Given the description of an element on the screen output the (x, y) to click on. 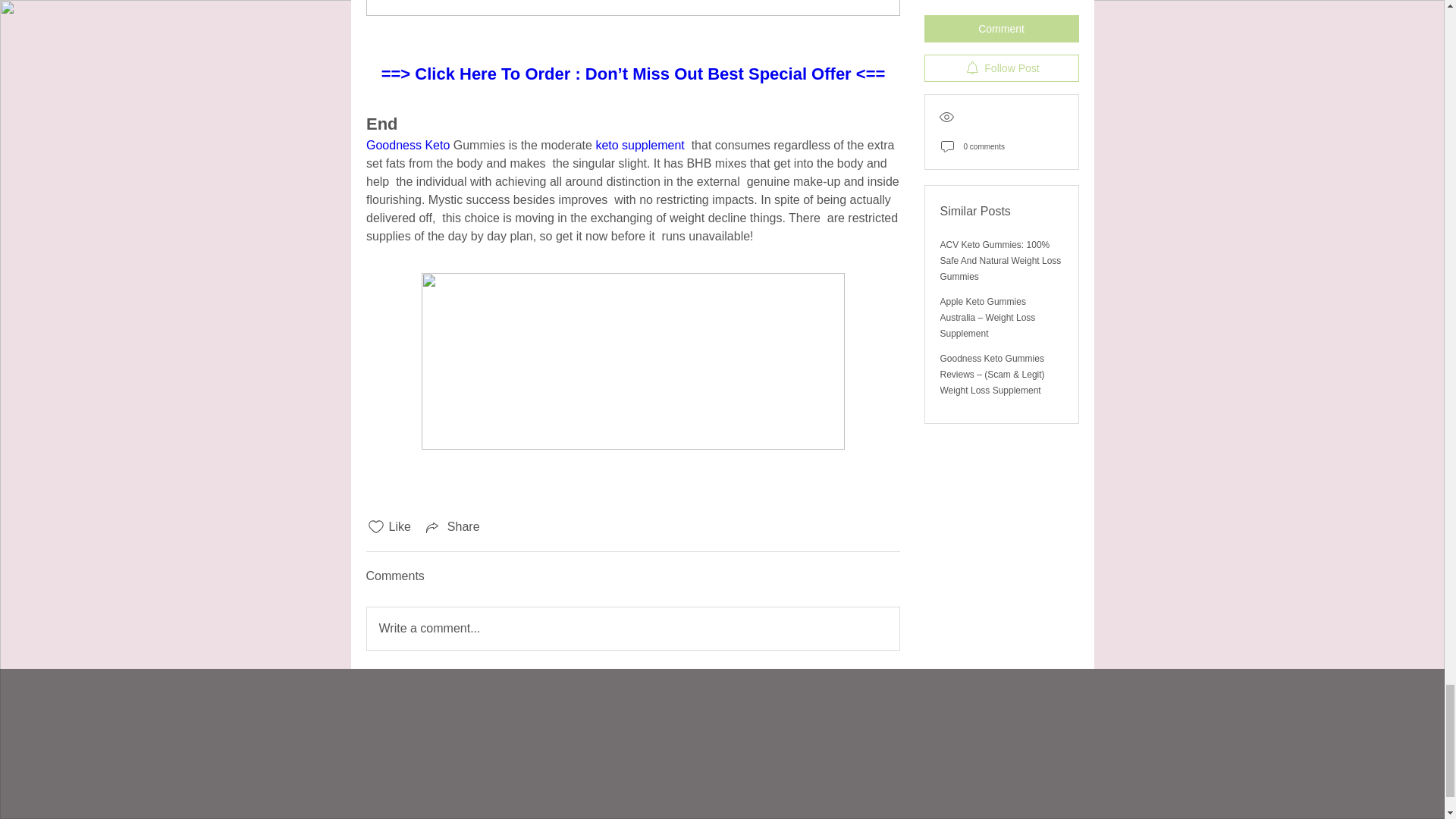
Goodness Keto (406, 144)
